Given the description of an element on the screen output the (x, y) to click on. 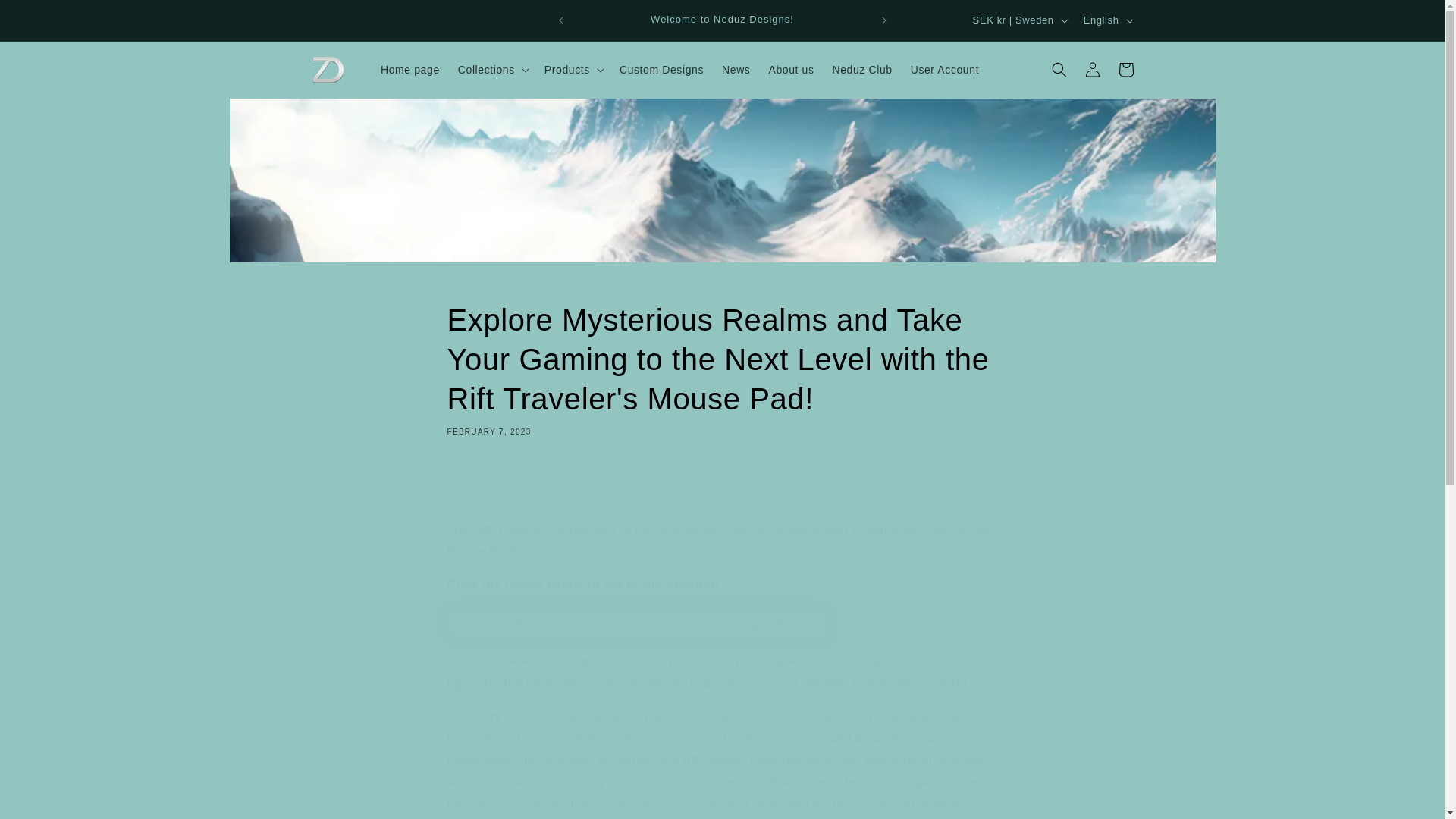
Skip to content (45, 16)
Share (721, 491)
Neduz Designs is also on Etsy. Click here to go there!! (1018, 20)
English (1107, 20)
